Given the description of an element on the screen output the (x, y) to click on. 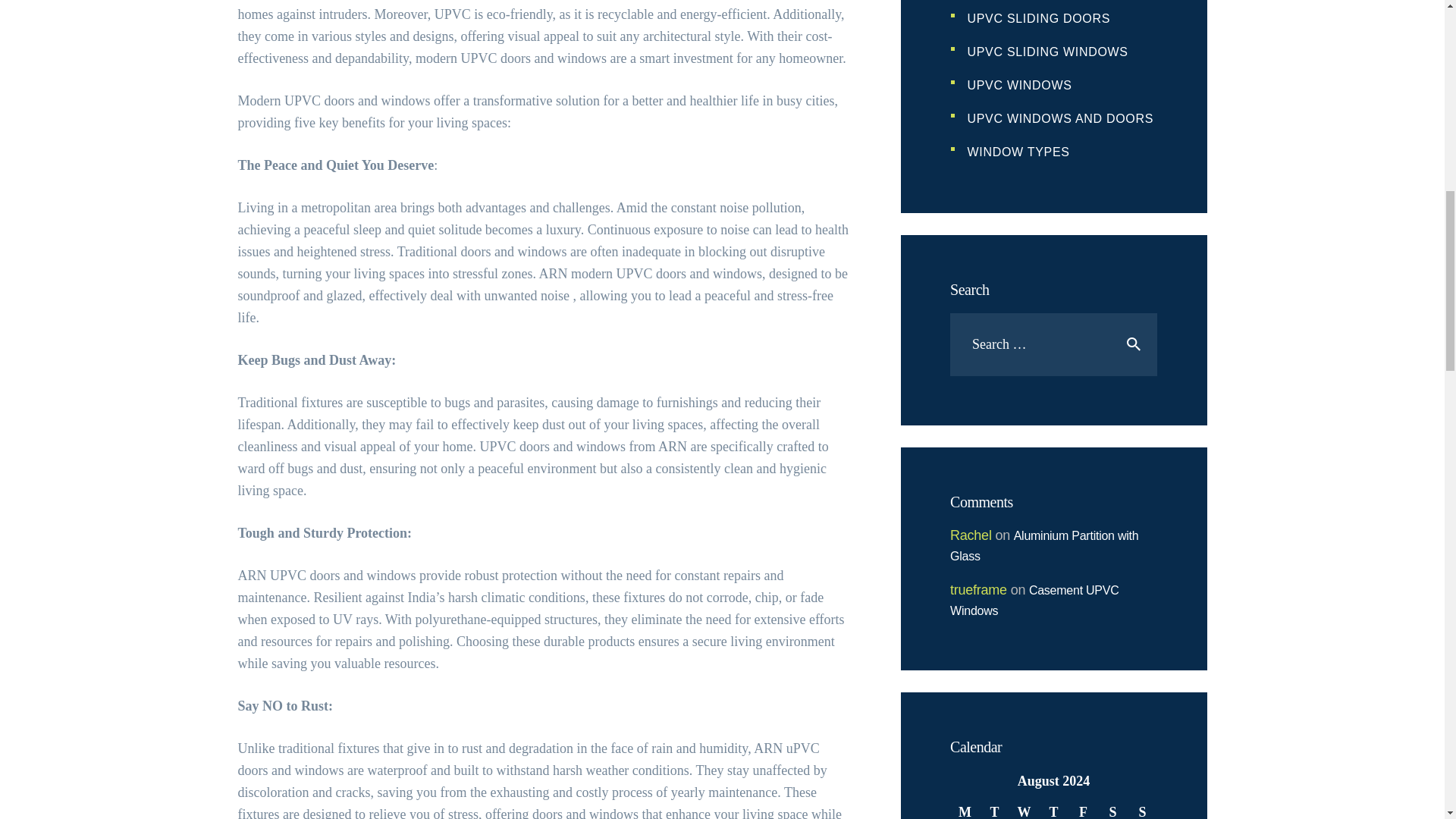
Saturday (1111, 809)
Thursday (1053, 809)
Friday (1082, 809)
Sunday (1141, 809)
Tuesday (994, 809)
Monday (964, 809)
Wednesday (1024, 809)
